Given the description of an element on the screen output the (x, y) to click on. 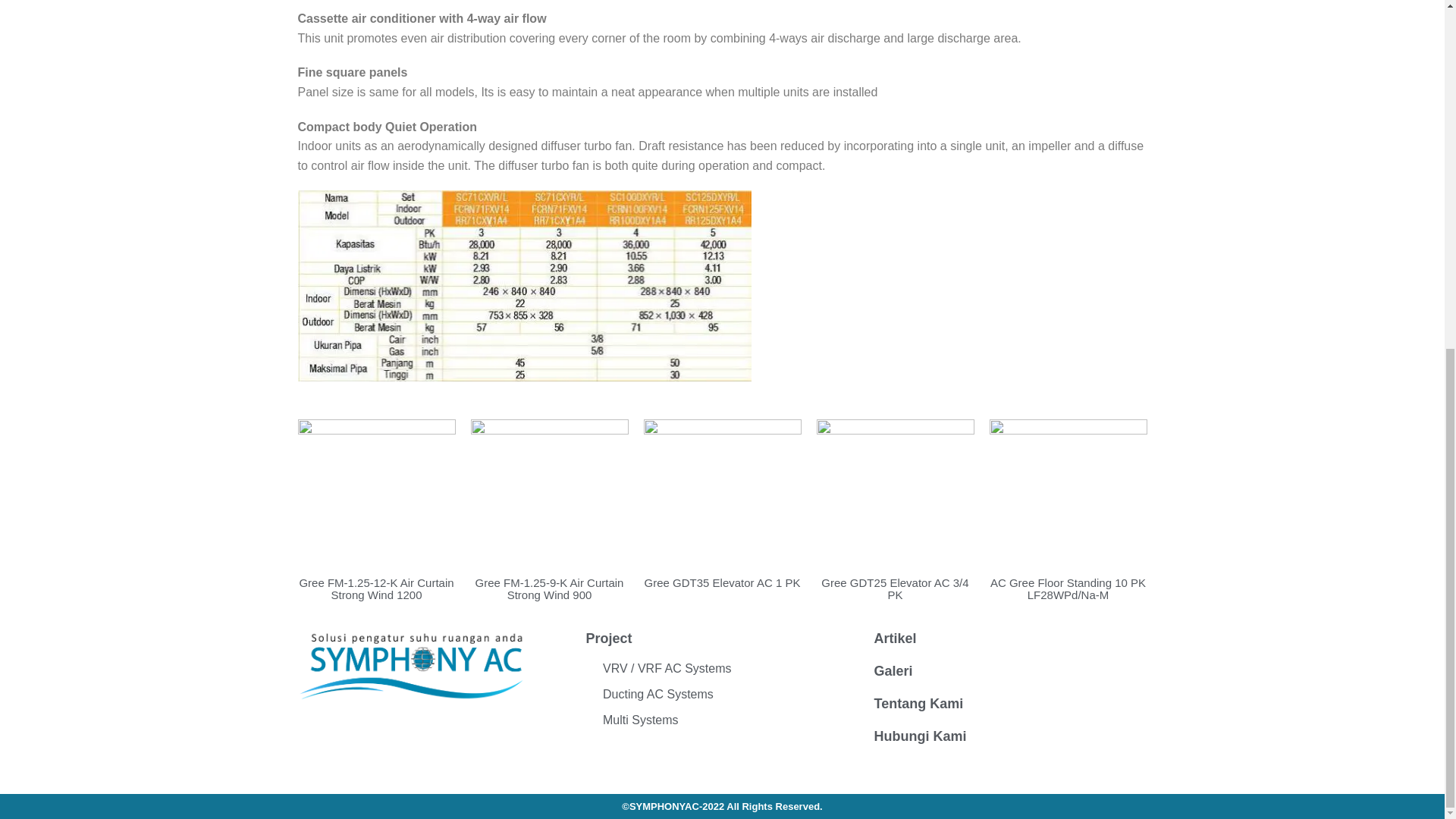
FCRN (509, 15)
